Given the description of an element on the screen output the (x, y) to click on. 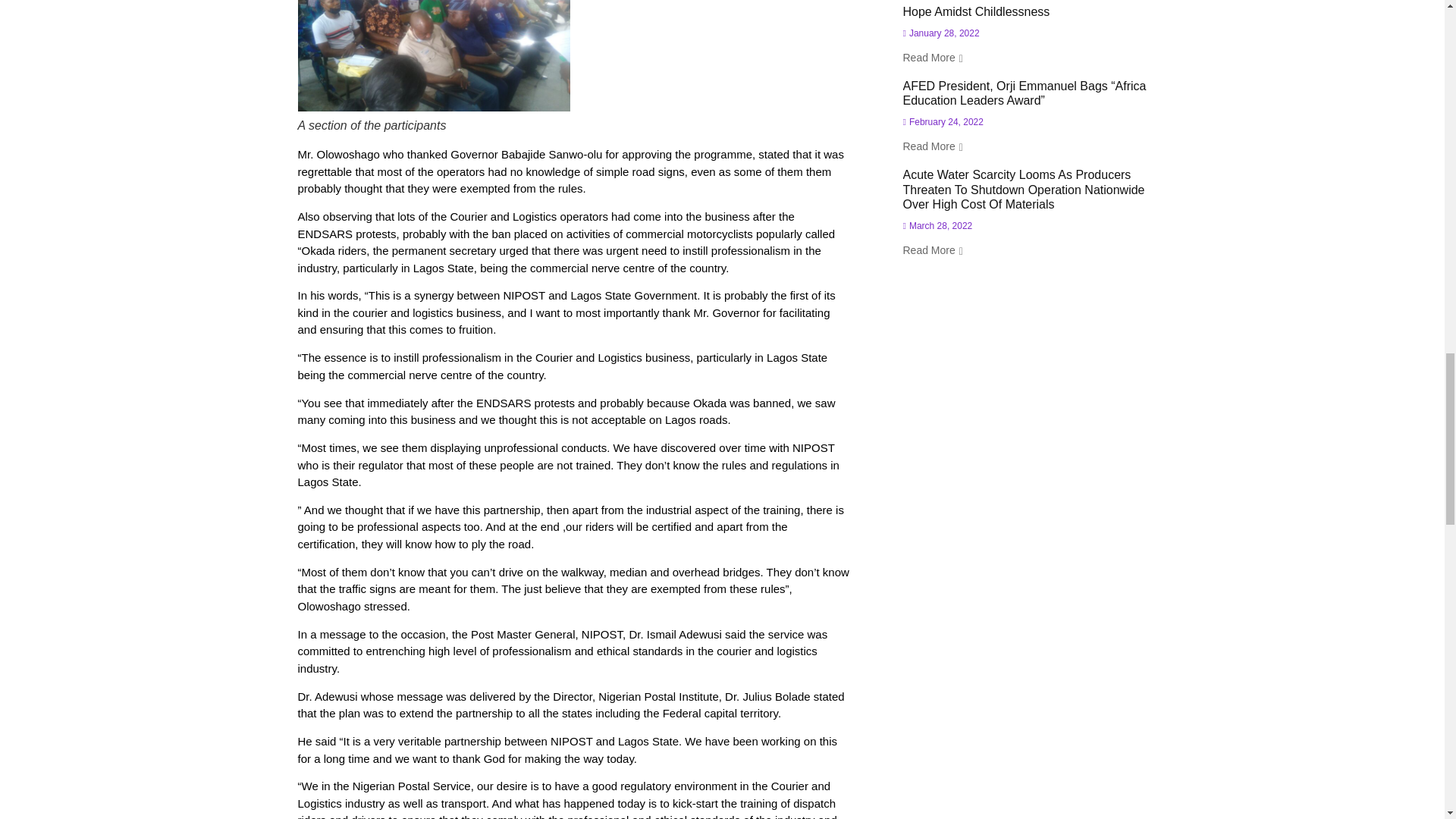
Read More (932, 58)
Hope Amidst Childlessness (975, 11)
Hope Amidst Childlessness (975, 11)
